Given the description of an element on the screen output the (x, y) to click on. 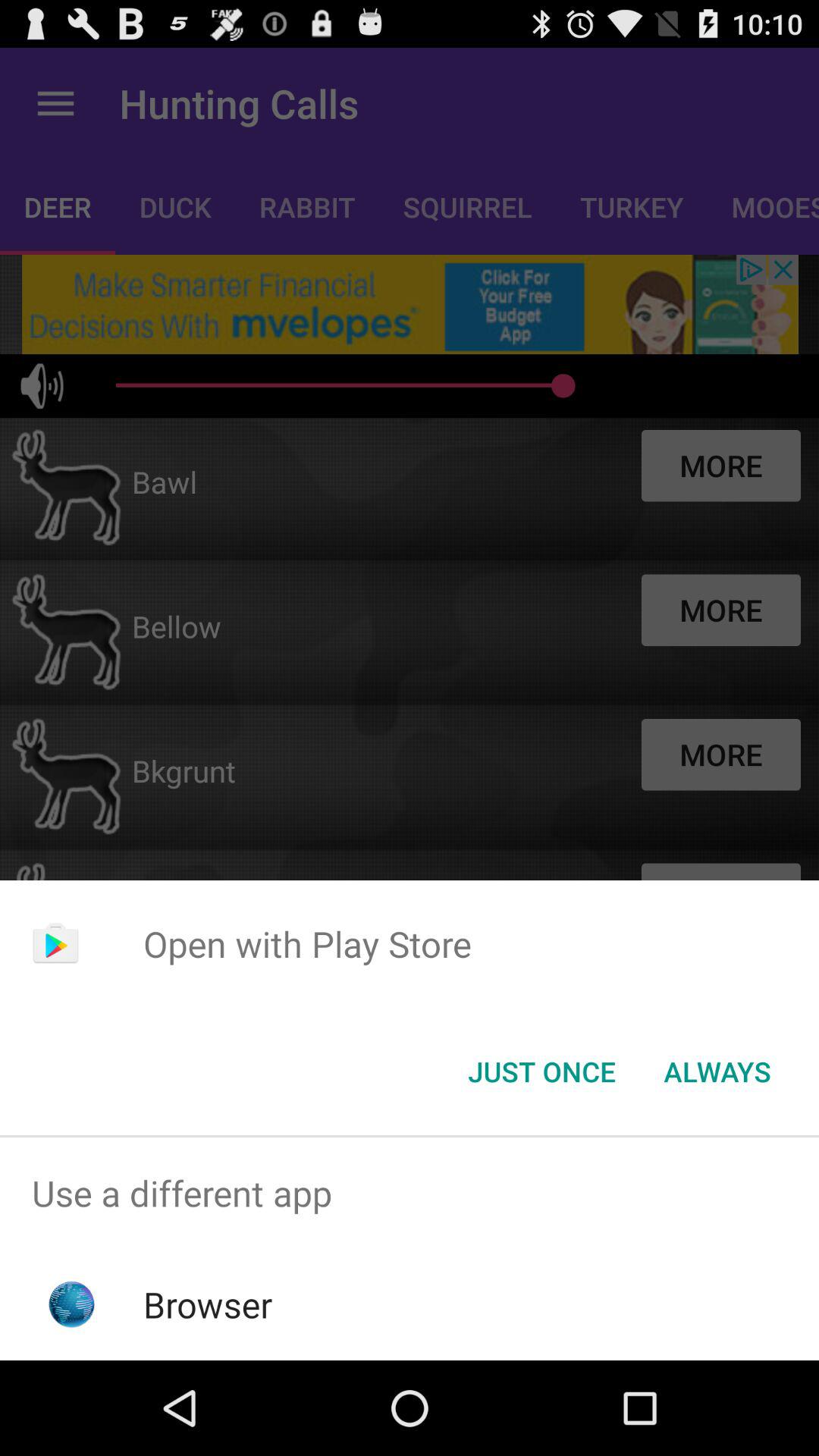
tap app below open with play app (717, 1071)
